Given the description of an element on the screen output the (x, y) to click on. 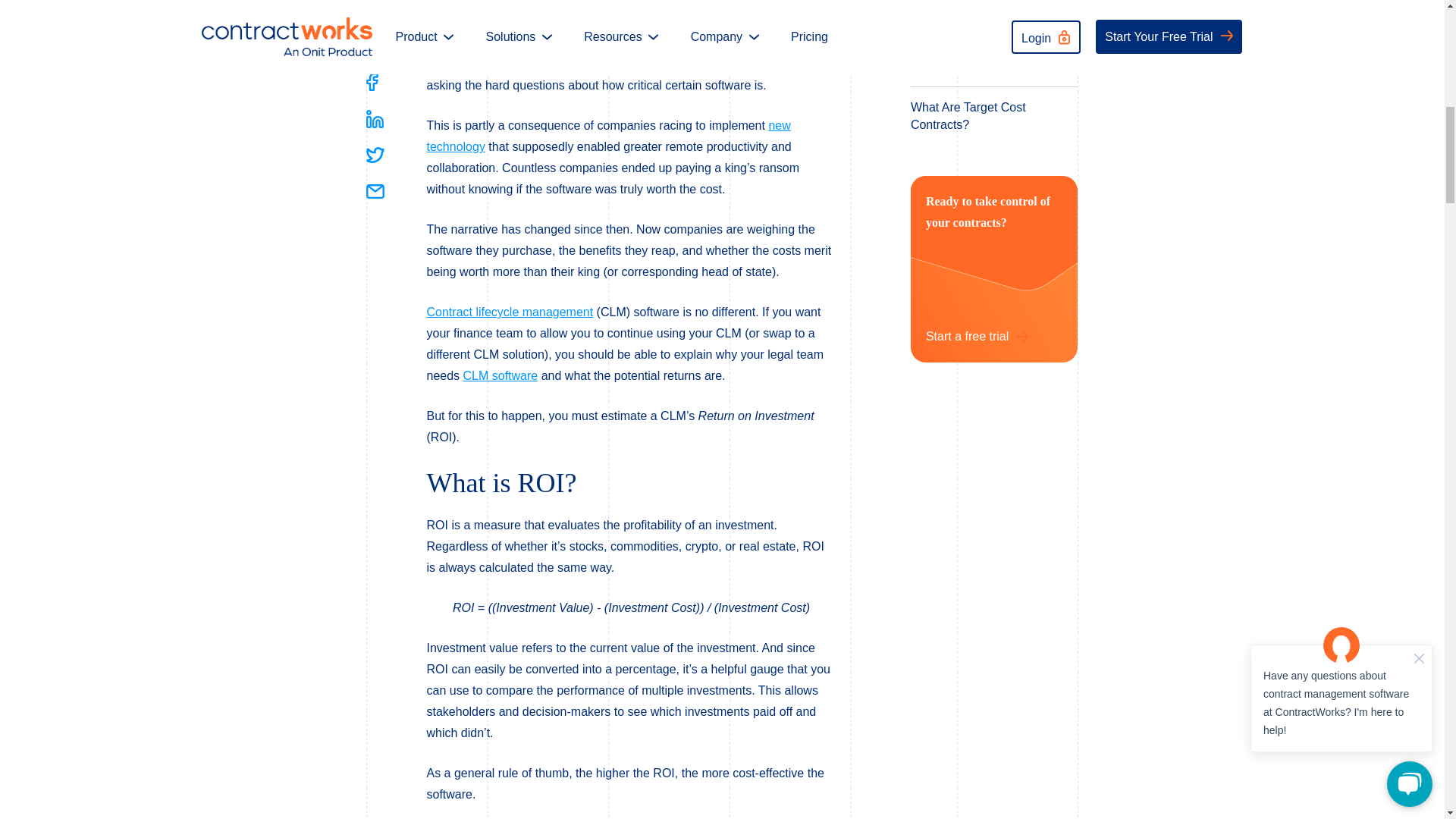
Start a free trial (976, 333)
